Given the description of an element on the screen output the (x, y) to click on. 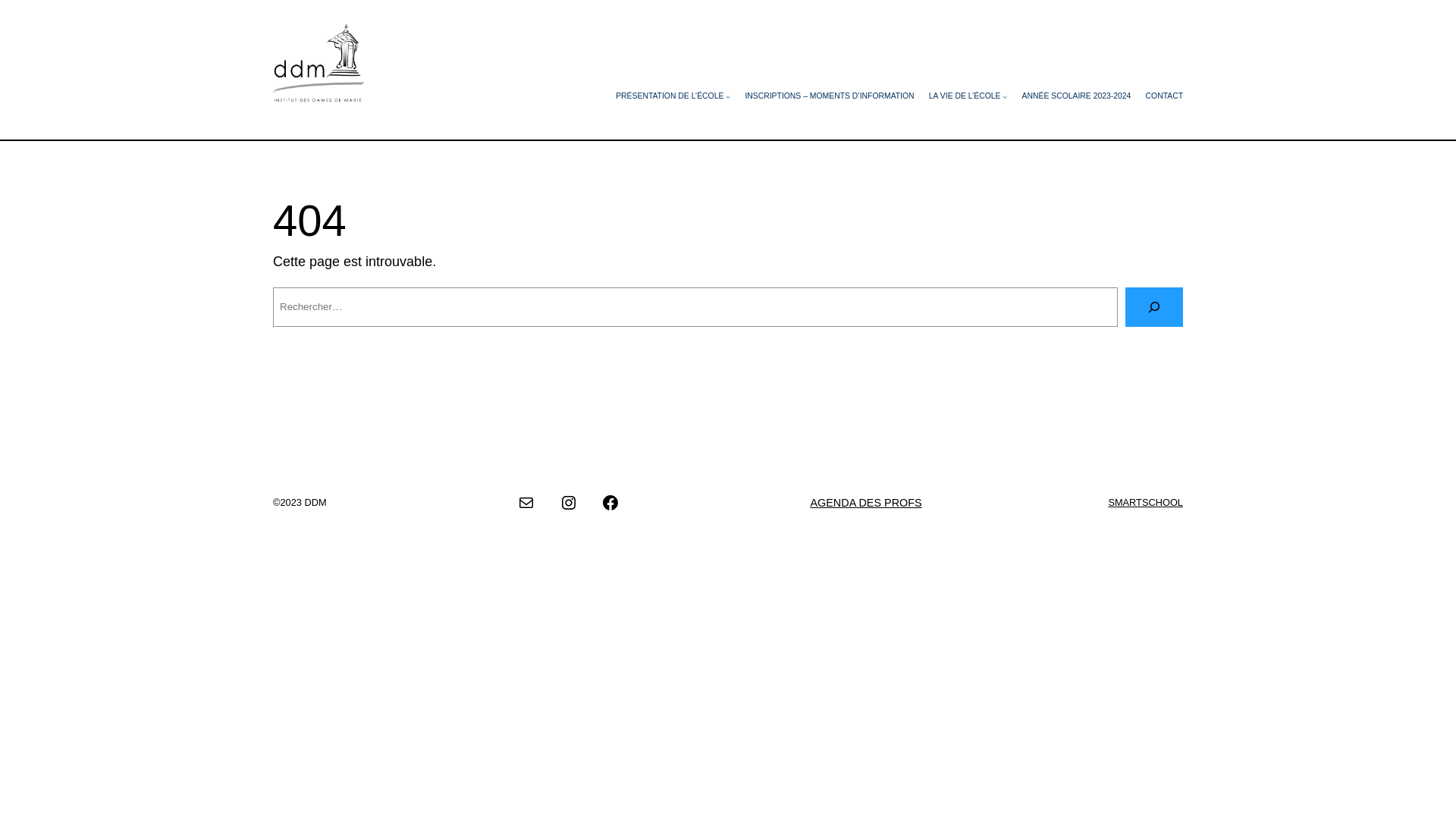
SMARTSCHOOL Element type: text (1145, 502)
Instagram Element type: text (568, 502)
AGENDA DES PROFS Element type: text (865, 502)
Mail Element type: text (525, 502)
CONTACT Element type: text (1164, 96)
